Given the description of an element on the screen output the (x, y) to click on. 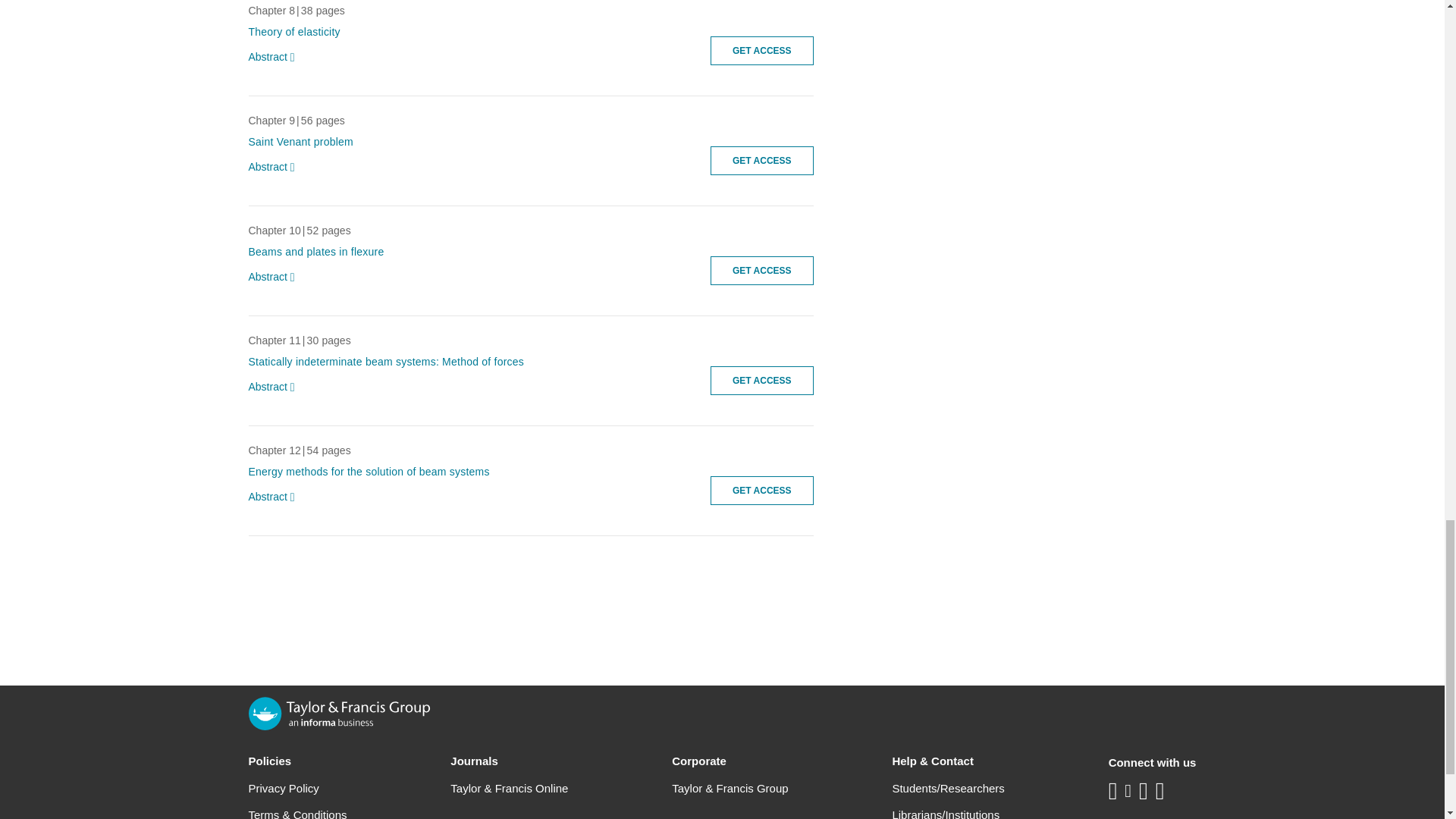
Saint Venant problem (300, 141)
Abstract (273, 57)
Abstract (273, 167)
Theory of elasticity (294, 31)
GET ACCESS (761, 160)
GET ACCESS (761, 50)
